Given the description of an element on the screen output the (x, y) to click on. 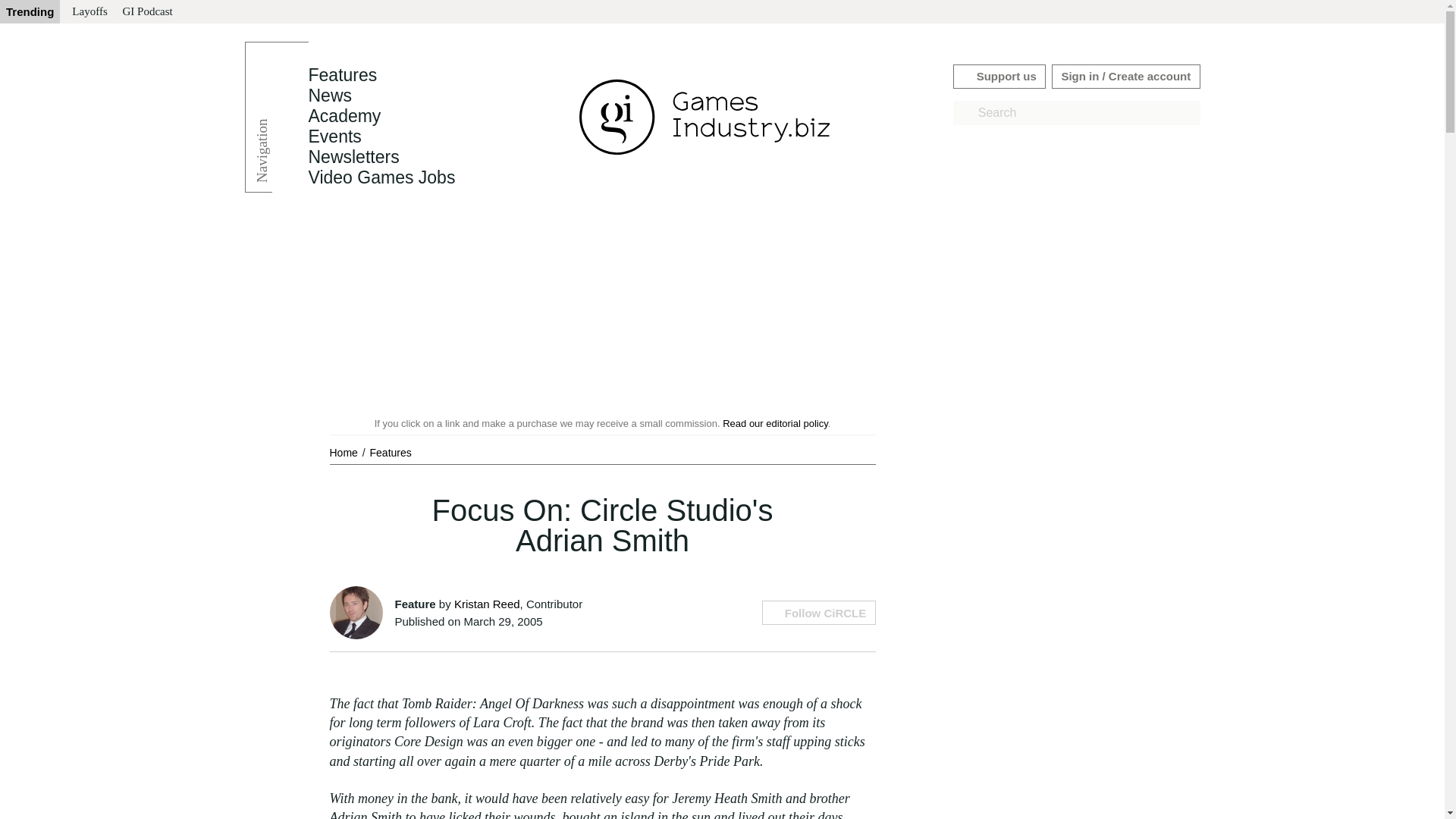
Follow CiRCLE (818, 612)
Features (342, 75)
Events (334, 136)
News (329, 95)
Read our editorial policy (775, 423)
Academy (343, 116)
GI Podcast (146, 11)
Layoffs (89, 11)
News (329, 95)
Video Games Jobs (380, 177)
